Given the description of an element on the screen output the (x, y) to click on. 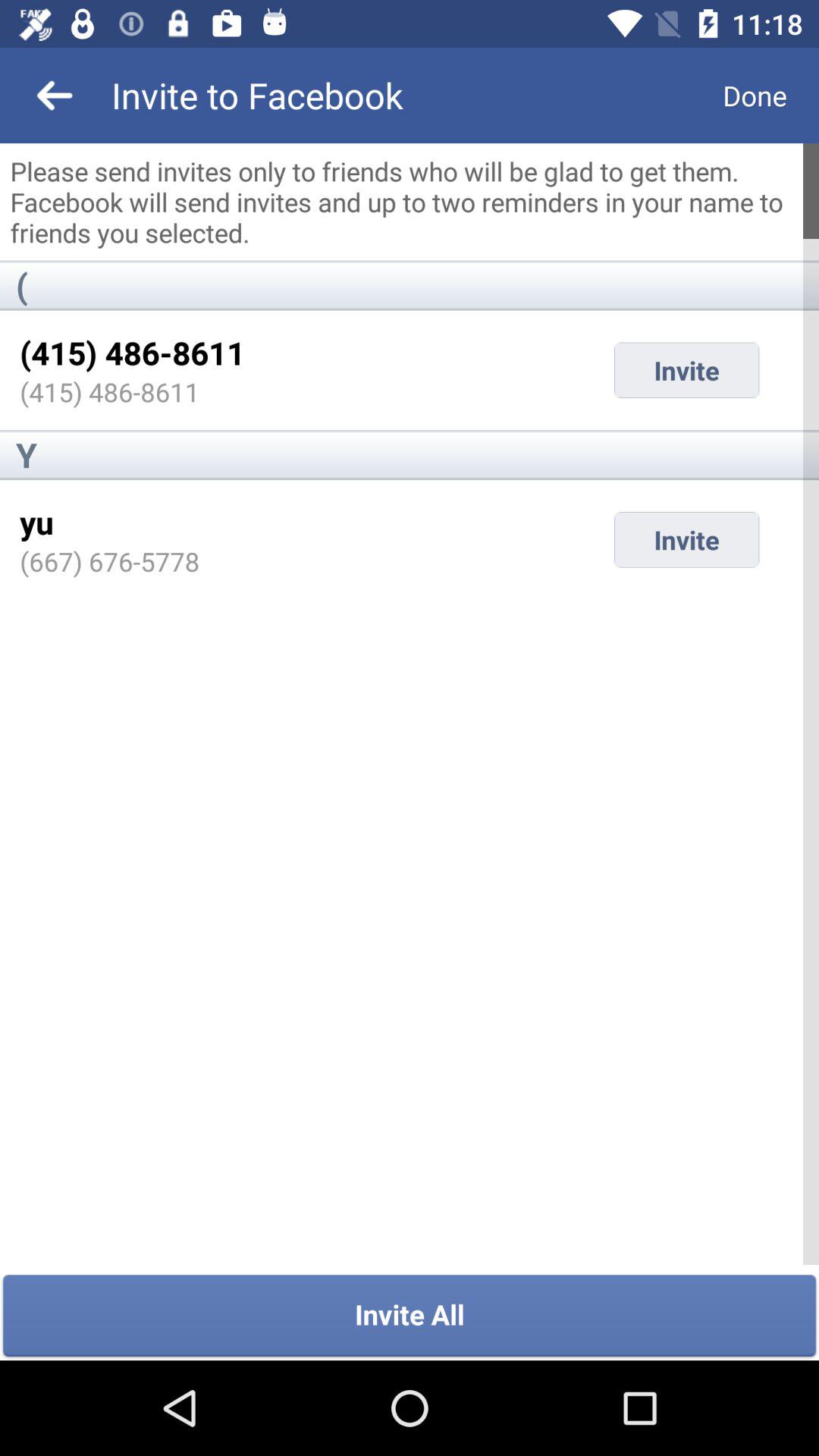
launch item to the left of the invite icon (109, 560)
